Given the description of an element on the screen output the (x, y) to click on. 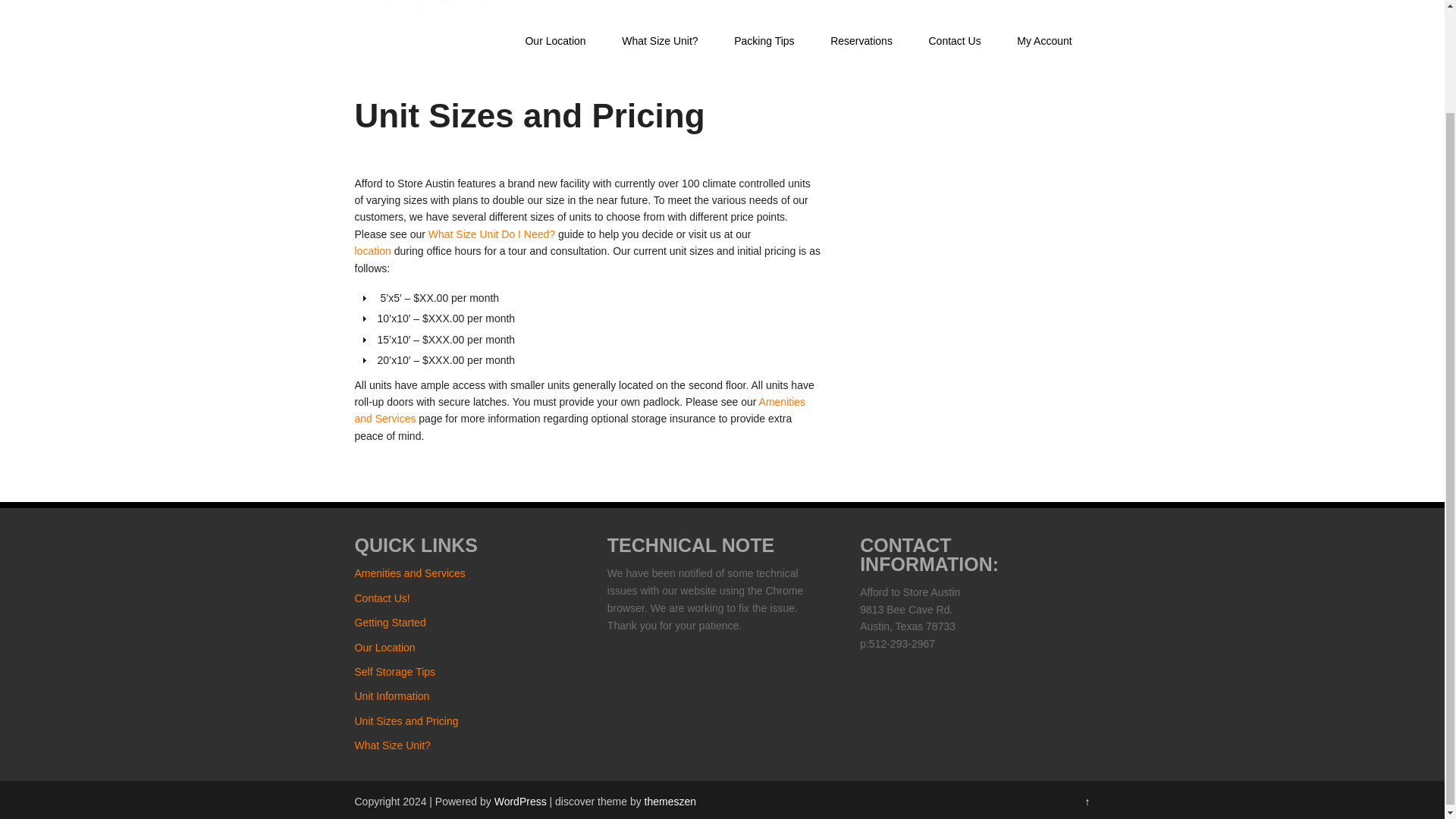
Our Location (384, 647)
location (373, 250)
Our Location (373, 250)
Contact Us! (382, 598)
Our Location (555, 40)
Reservations (861, 40)
WordPress (521, 801)
What Size Unit? (392, 745)
Unit Information (392, 695)
My Account (1044, 40)
